Given the description of an element on the screen output the (x, y) to click on. 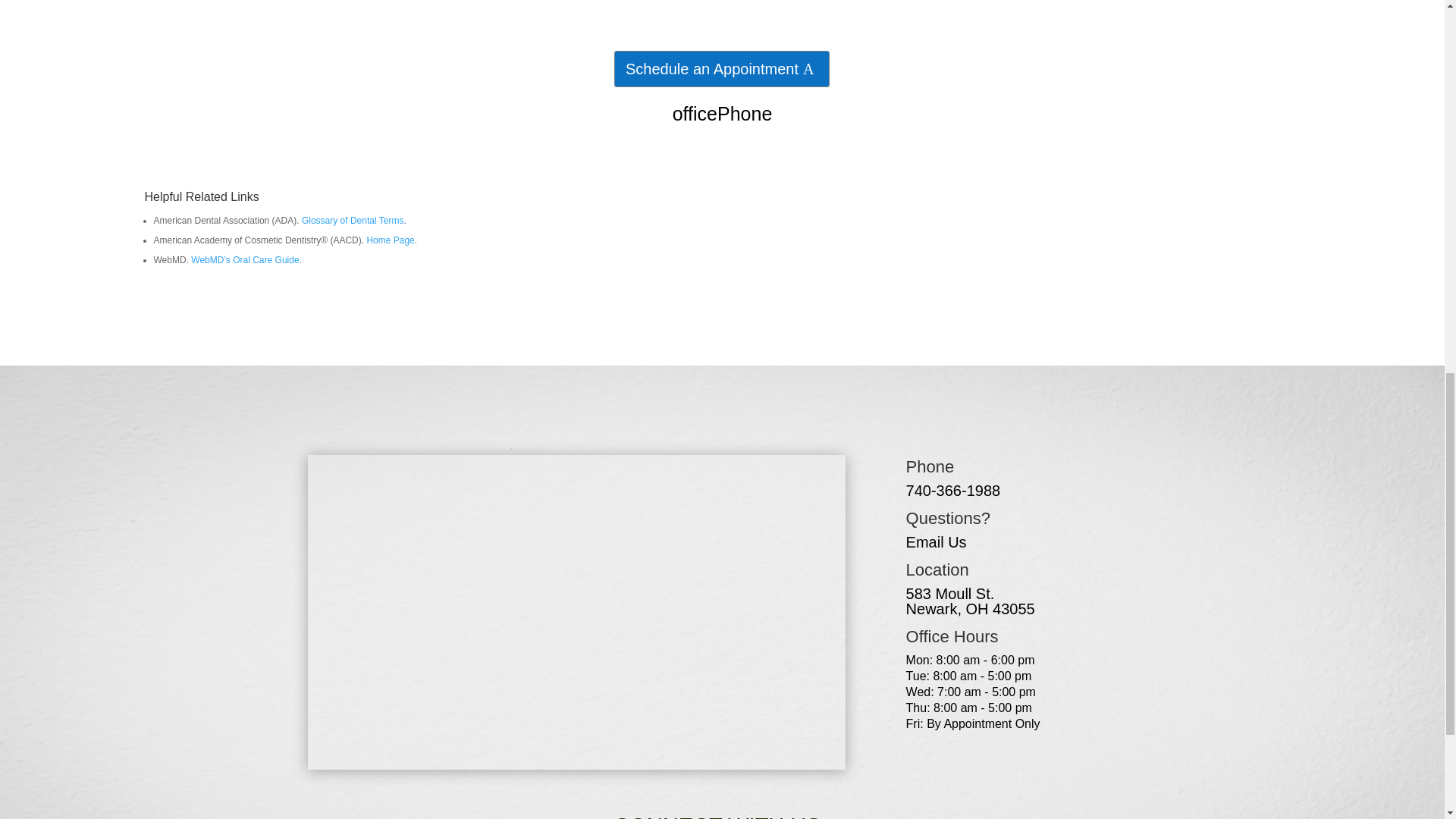
740-366-1988 (953, 490)
Home Page (389, 240)
officePhone (722, 113)
Glossary of Dental Terms (352, 220)
Email Us (935, 541)
map (970, 601)
